Given the description of an element on the screen output the (x, y) to click on. 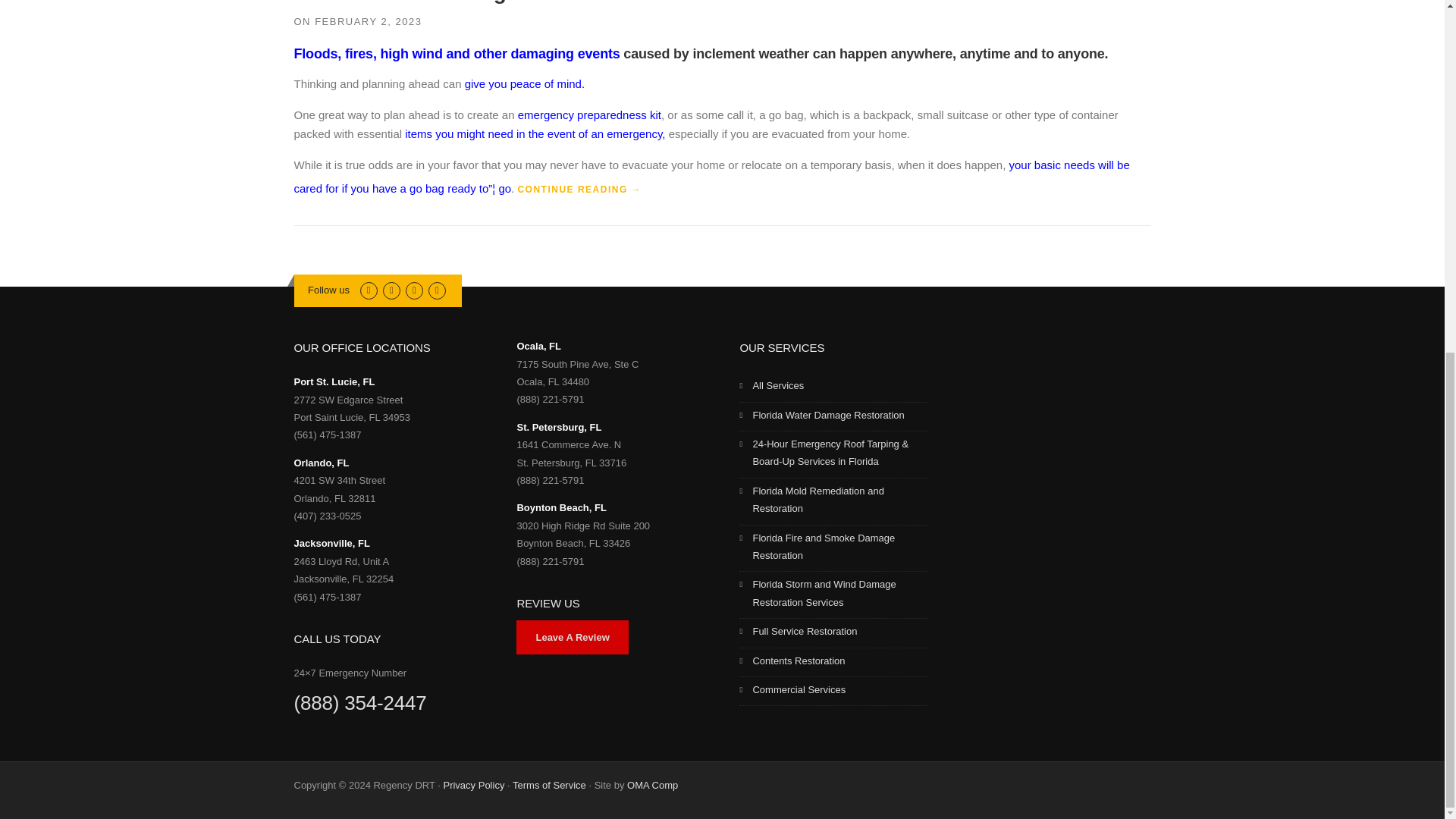
Facebook (391, 289)
Twitter (368, 289)
Linkedin (414, 289)
Youtube (436, 289)
